Given the description of an element on the screen output the (x, y) to click on. 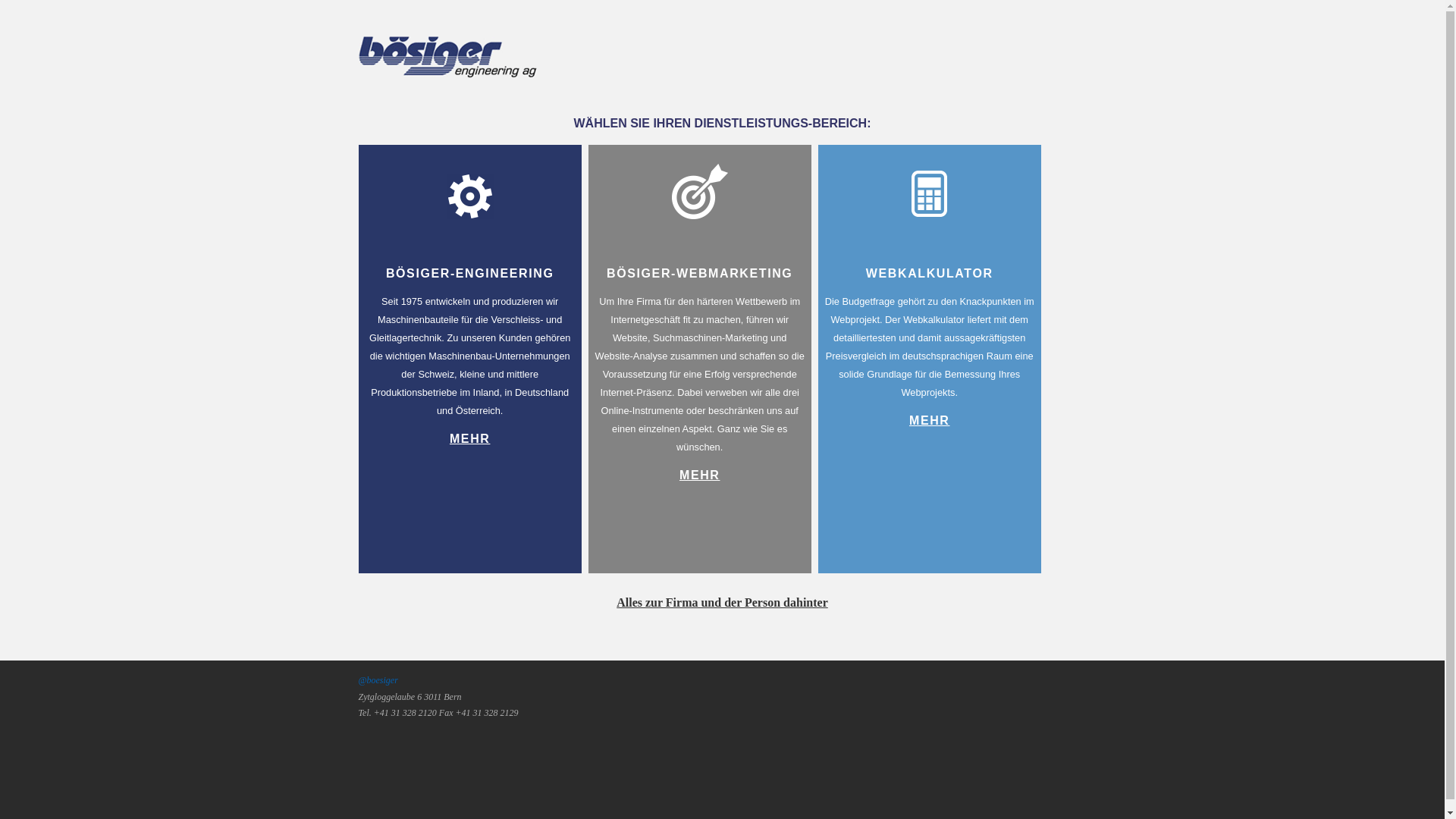
Alles zur Firma und der Person dahinter Element type: text (722, 602)
@boesiger Element type: text (377, 679)
